Given the description of an element on the screen output the (x, y) to click on. 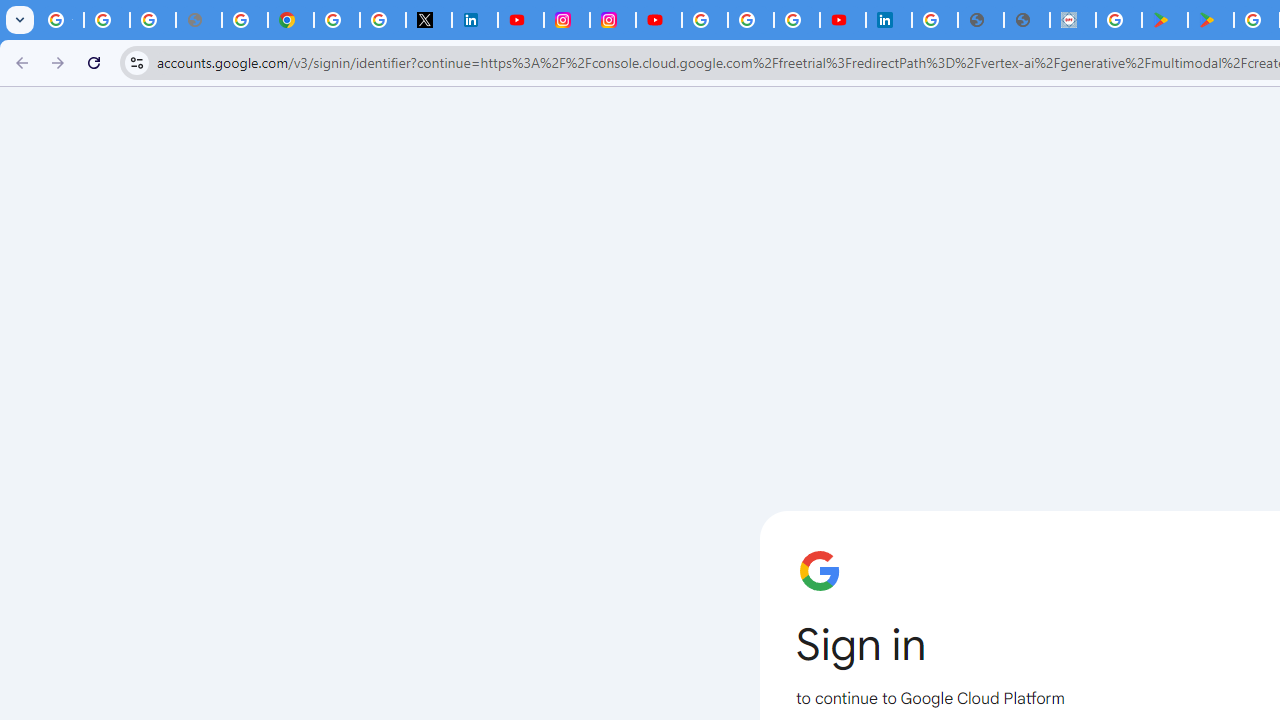
Sign in - Google Accounts (336, 20)
Android Apps on Google Play (1164, 20)
PAW Patrol Rescue World - Apps on Google Play (1210, 20)
YouTube Content Monetization Policies - How YouTube Works (520, 20)
User Details (1026, 20)
